Given the description of an element on the screen output the (x, y) to click on. 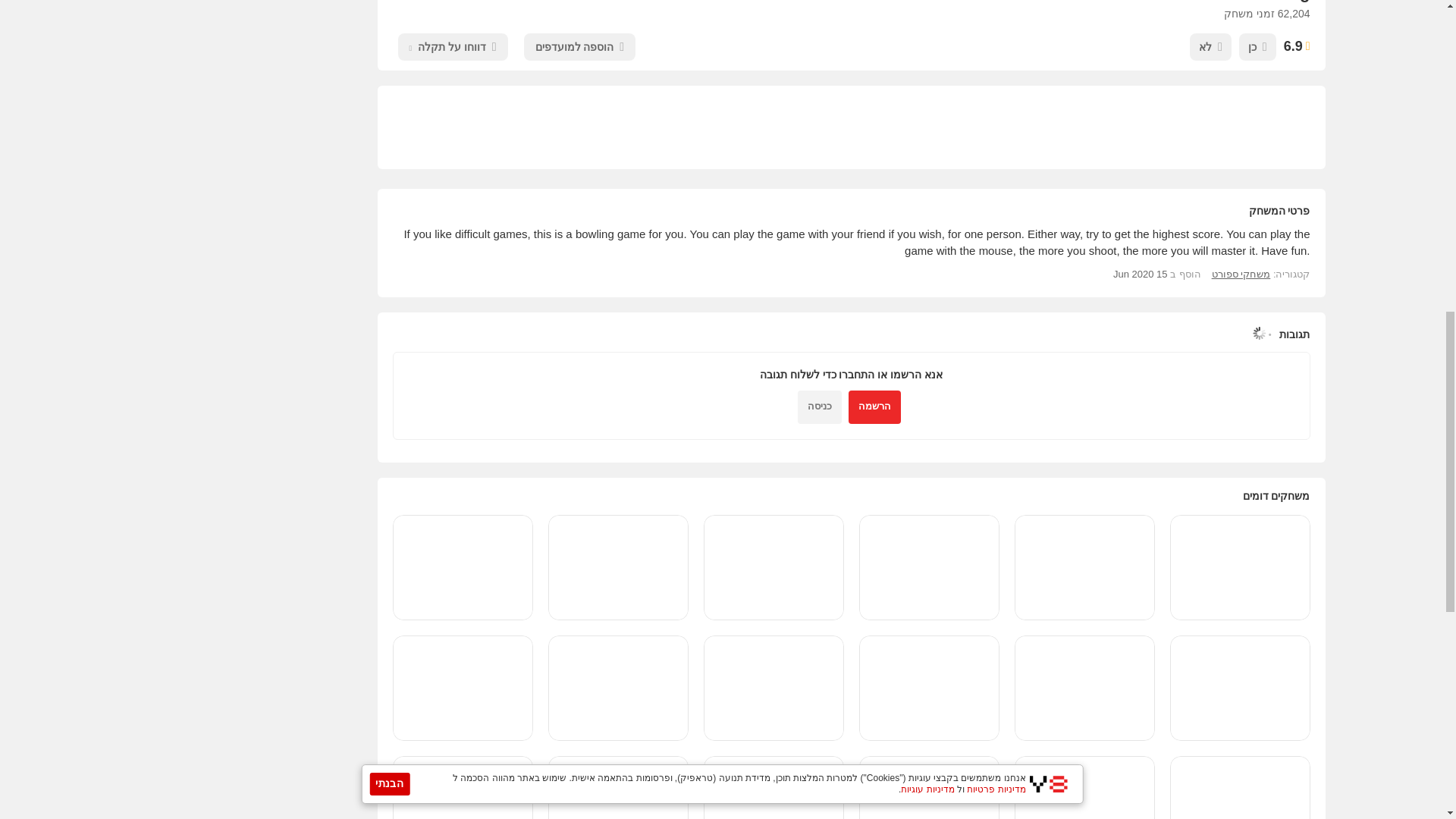
Sports (1241, 274)
